Given the description of an element on the screen output the (x, y) to click on. 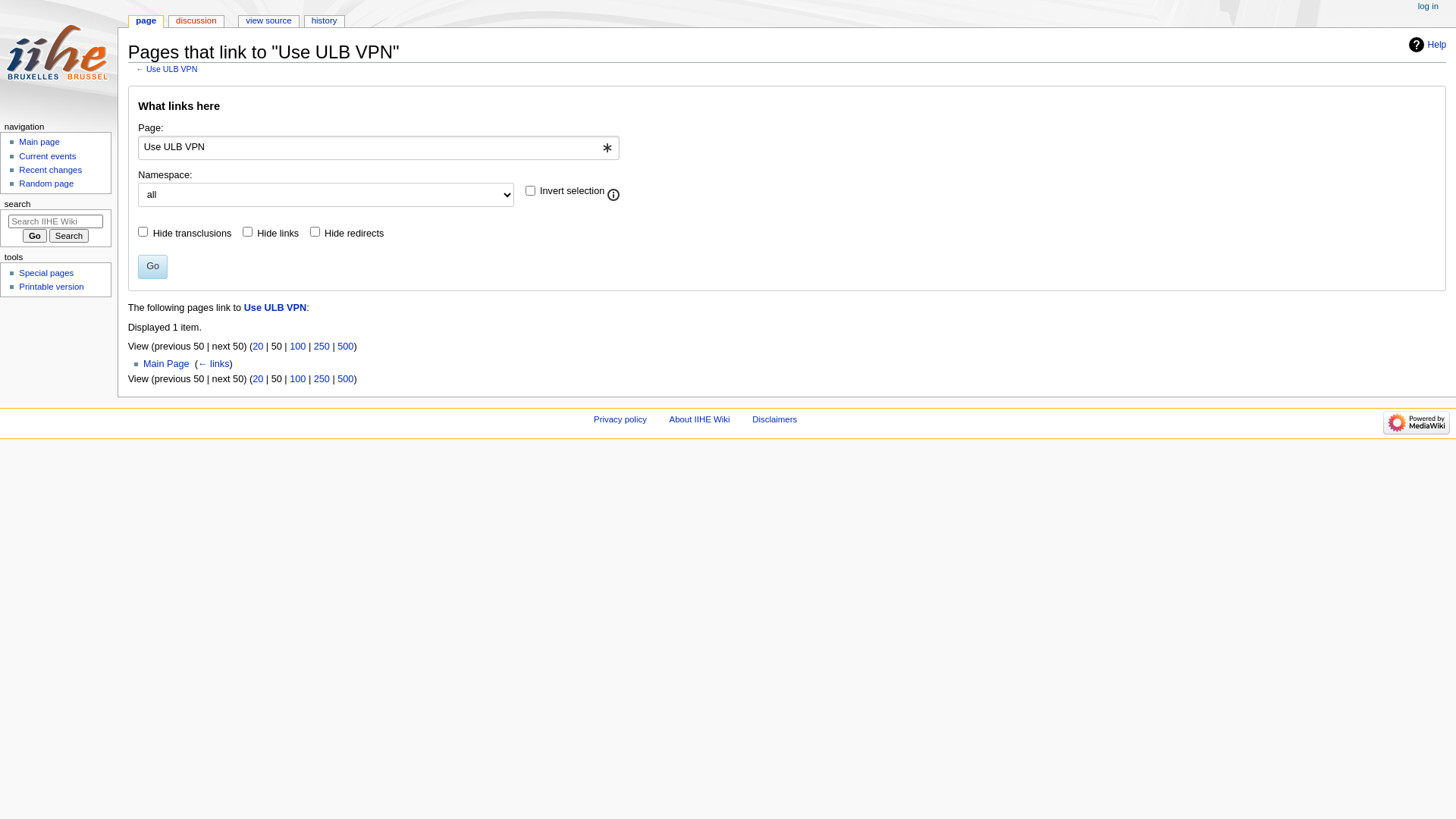
Jump to navigation Element type: text (127, 84)
Go to a page with this exact name if it exists Element type: hover (34, 235)
500 Element type: text (345, 346)
page Element type: text (145, 21)
Privacy policy Element type: text (619, 418)
Use ULB VPN Element type: text (171, 68)
Recent changes Element type: text (49, 169)
Printable version Element type: text (50, 286)
Special pages Element type: text (45, 272)
Help Element type: text (1427, 44)
Main page Element type: text (38, 141)
About IIHE Wiki Element type: text (699, 418)
20 Element type: text (257, 346)
Use ULB VPN Element type: text (275, 307)
view source Element type: text (268, 21)
Disclaimers Element type: text (774, 418)
Search Element type: text (68, 235)
Search pages for this text Element type: hover (68, 235)
Main Page Element type: text (166, 363)
Current events Element type: text (46, 155)
Random page Element type: text (45, 183)
Go Element type: text (34, 235)
Search IIHE Wiki [f] Element type: hover (55, 221)
100 Element type: text (297, 378)
100 Element type: text (297, 346)
history Element type: text (324, 21)
500 Element type: text (345, 378)
Go Element type: text (152, 266)
250 Element type: text (321, 346)
discussion Element type: text (196, 21)
250 Element type: text (321, 378)
log in Element type: text (1428, 6)
20 Element type: text (257, 378)
